Given the description of an element on the screen output the (x, y) to click on. 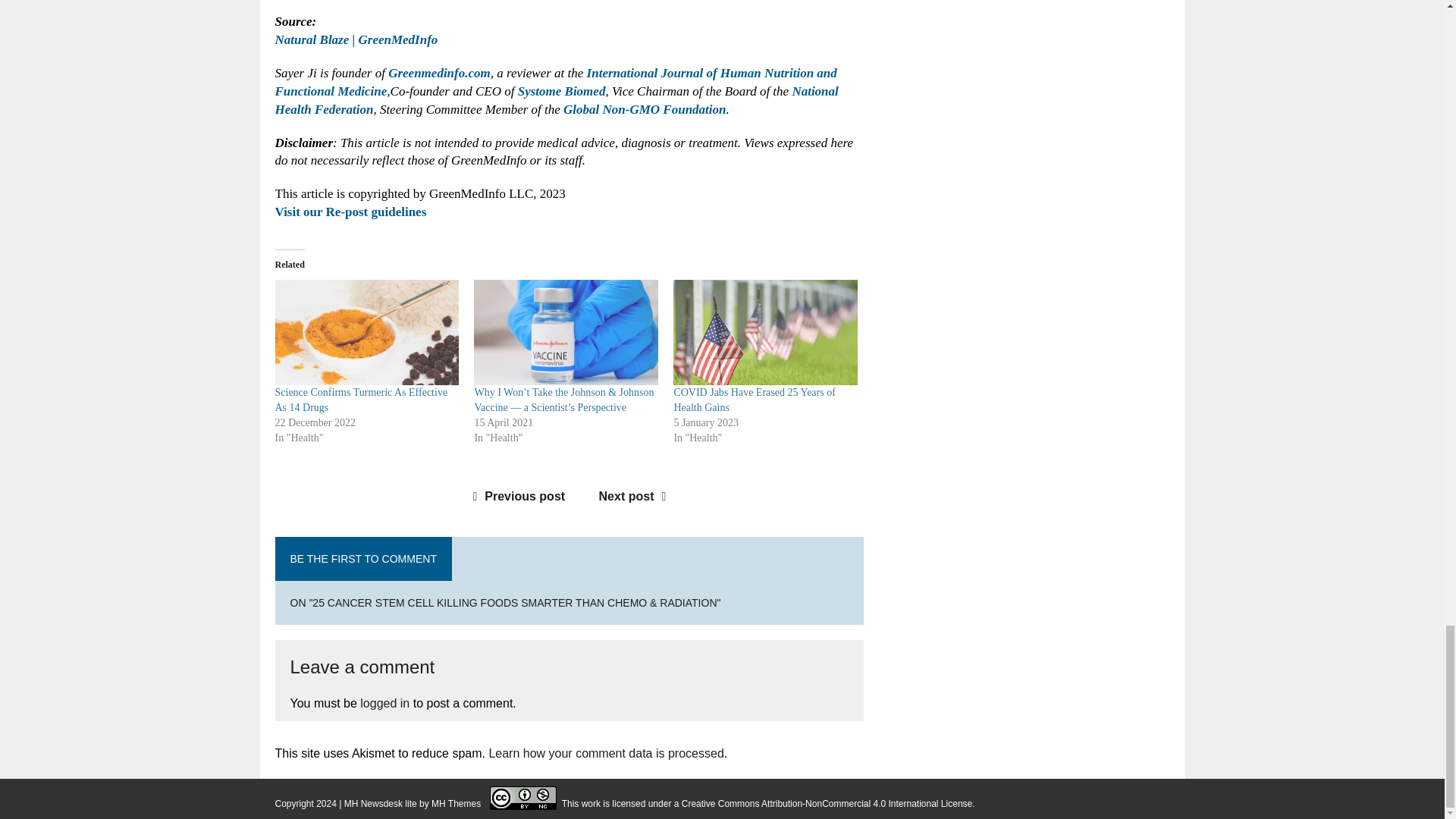
Science Confirms Turmeric As Effective As 14 Drugs (366, 332)
Science Confirms Turmeric As Effective As 14 Drugs (360, 399)
COVID Jabs Have Erased 25 Years of Health Gains (764, 332)
COVID Jabs Have Erased 25 Years of Health Gains (753, 399)
